Given the description of an element on the screen output the (x, y) to click on. 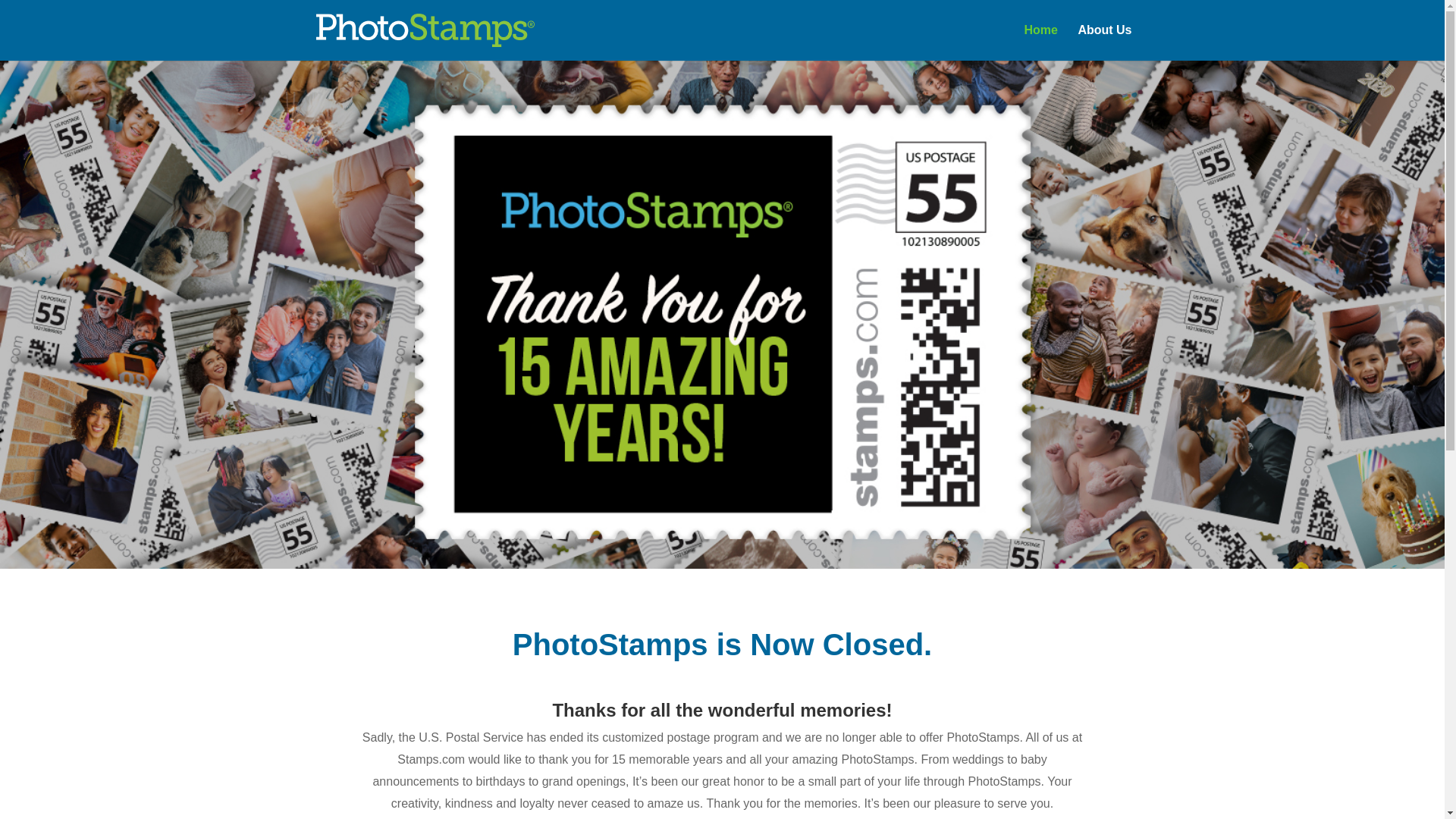
About Us (1104, 42)
Home (1040, 42)
